Given the description of an element on the screen output the (x, y) to click on. 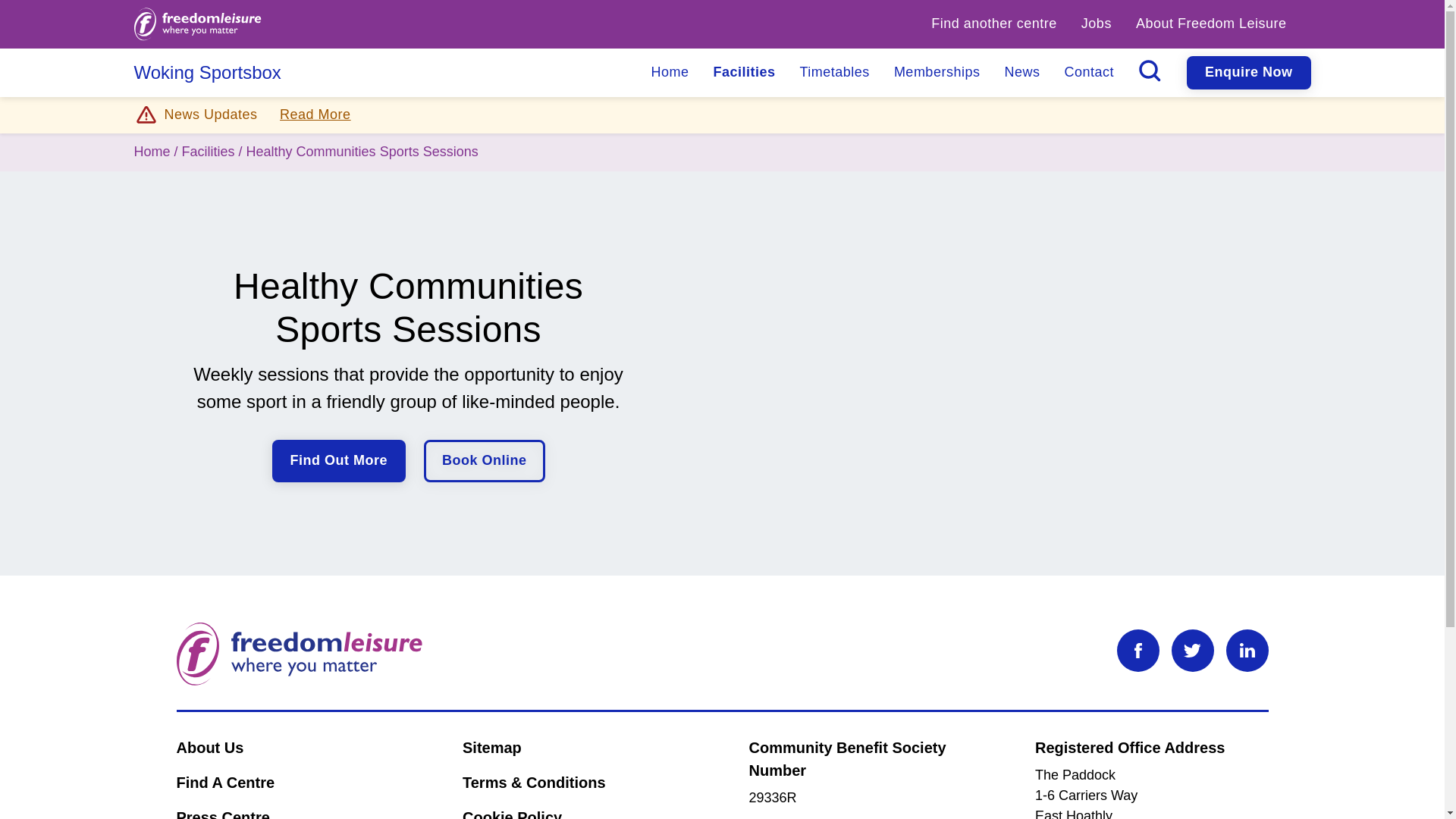
Find another centre (993, 24)
Home (669, 72)
Timetables (833, 72)
Memberships (937, 72)
About Freedom Leisure (1211, 24)
Contact (1088, 72)
Find another centre (993, 24)
Facilities (743, 72)
Woking Sportsbox (207, 72)
Contact (1088, 72)
